Given the description of an element on the screen output the (x, y) to click on. 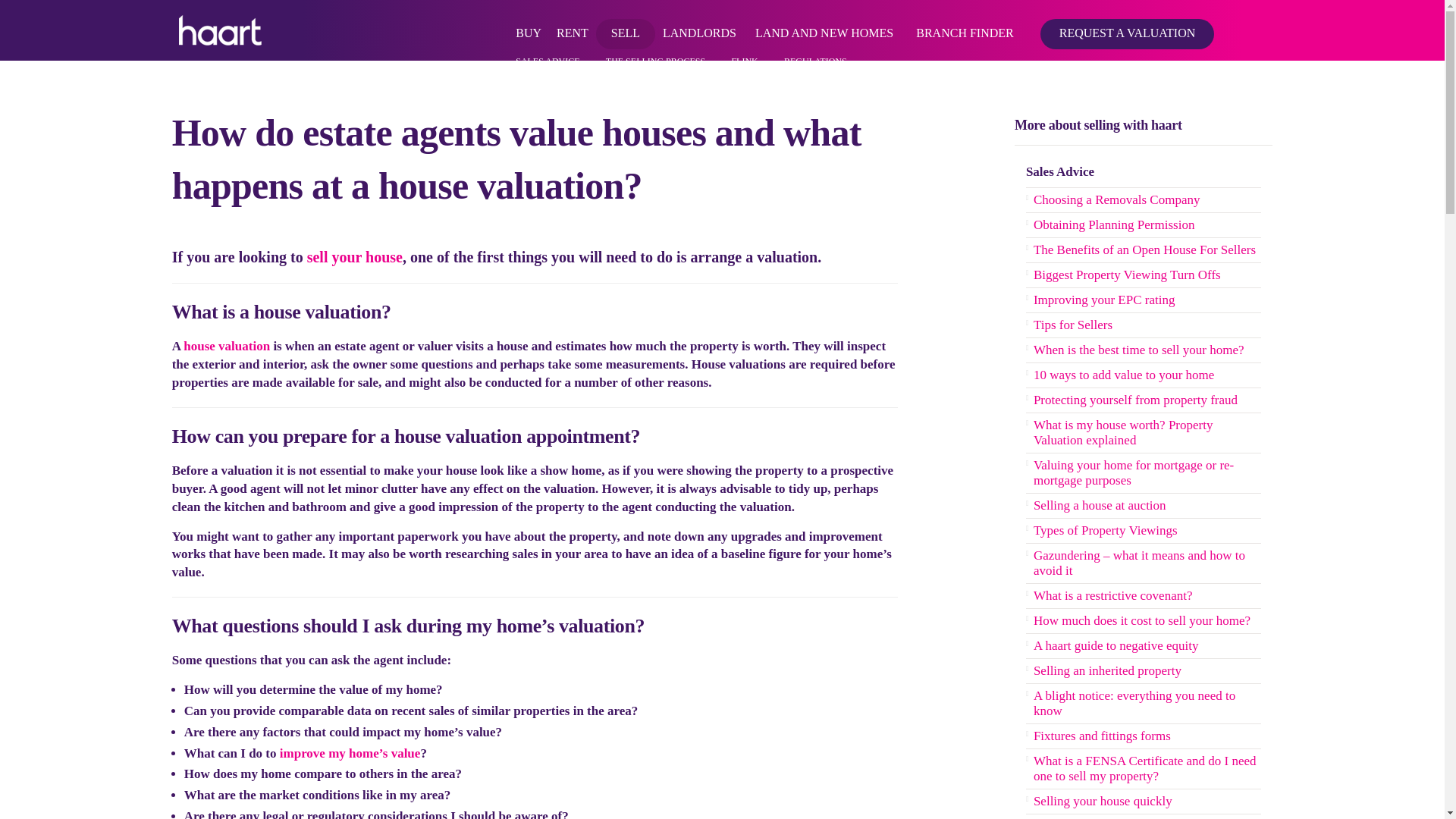
haart (220, 30)
LAND AND NEW HOMES (824, 30)
10 ways to add value to your home (349, 753)
BRANCH FINDER (964, 30)
Choosing a Removals Company (1143, 200)
FLINK (743, 61)
Obtaining Planning Permission (1143, 225)
THE SELLING PROCESS (655, 61)
Skip to the content (720, 12)
The Selling Process (355, 256)
LANDLORDS (699, 30)
More about selling with haart (1137, 125)
sell your house (355, 256)
What is my house worth? Property Valuation explained (226, 345)
house valuation (226, 345)
